Given the description of an element on the screen output the (x, y) to click on. 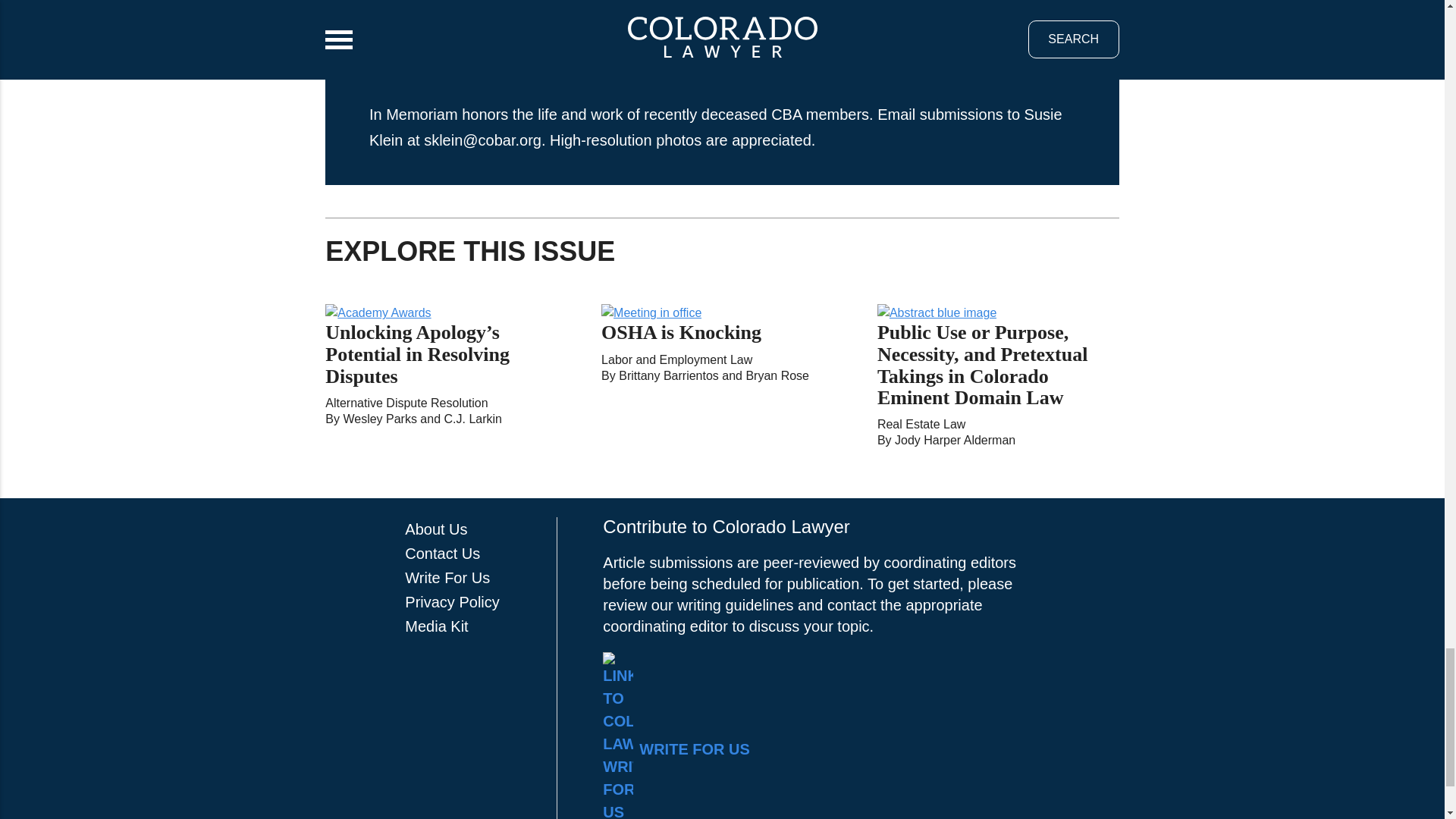
About Us (435, 528)
OSHA is Knocking (681, 332)
Write For Us (446, 577)
Media Kit (435, 626)
Privacy Policy (451, 601)
Contact Us (442, 553)
